Given the description of an element on the screen output the (x, y) to click on. 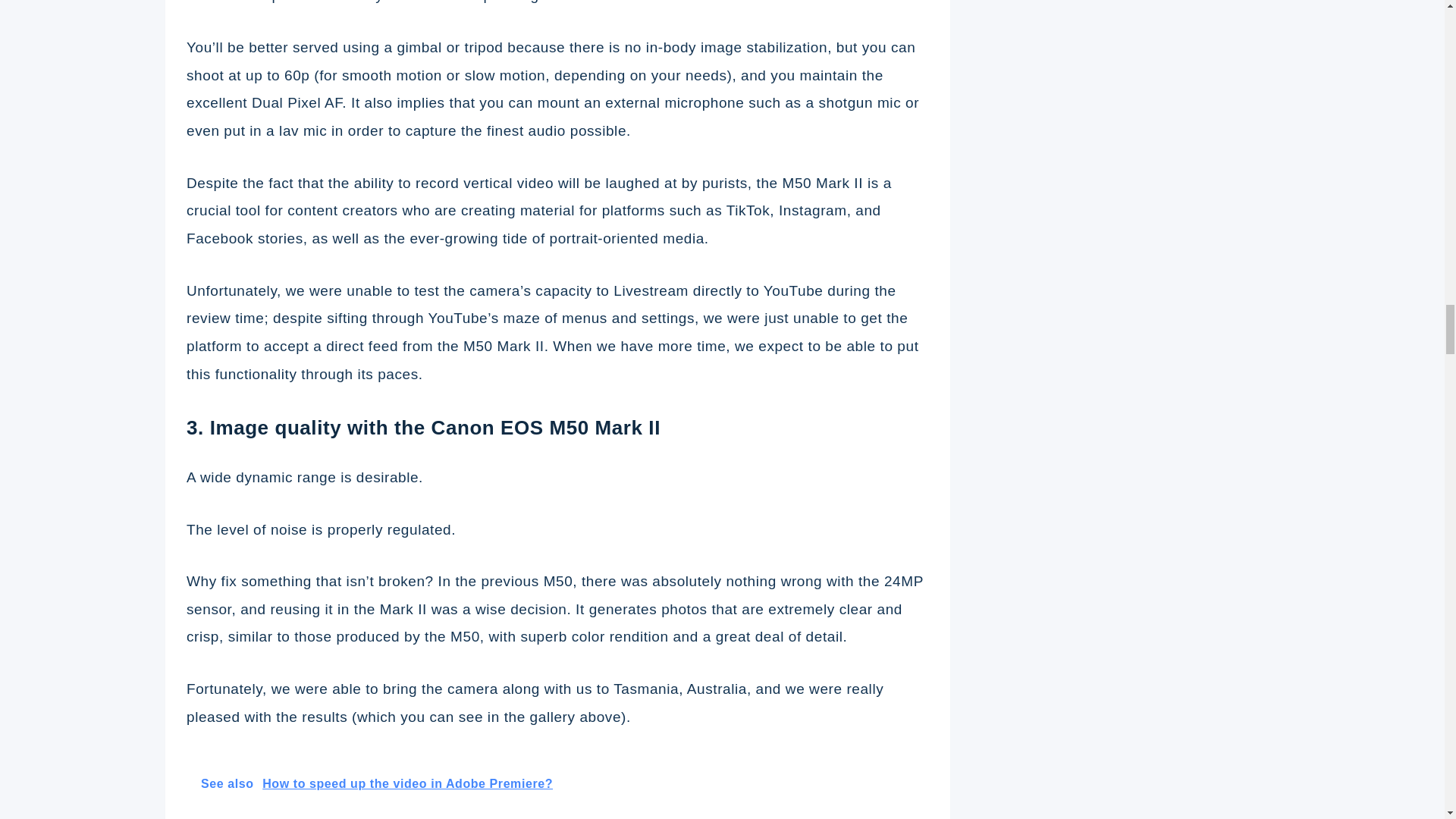
See also  How to speed up the video in Adobe Premiere? (557, 783)
